Given the description of an element on the screen output the (x, y) to click on. 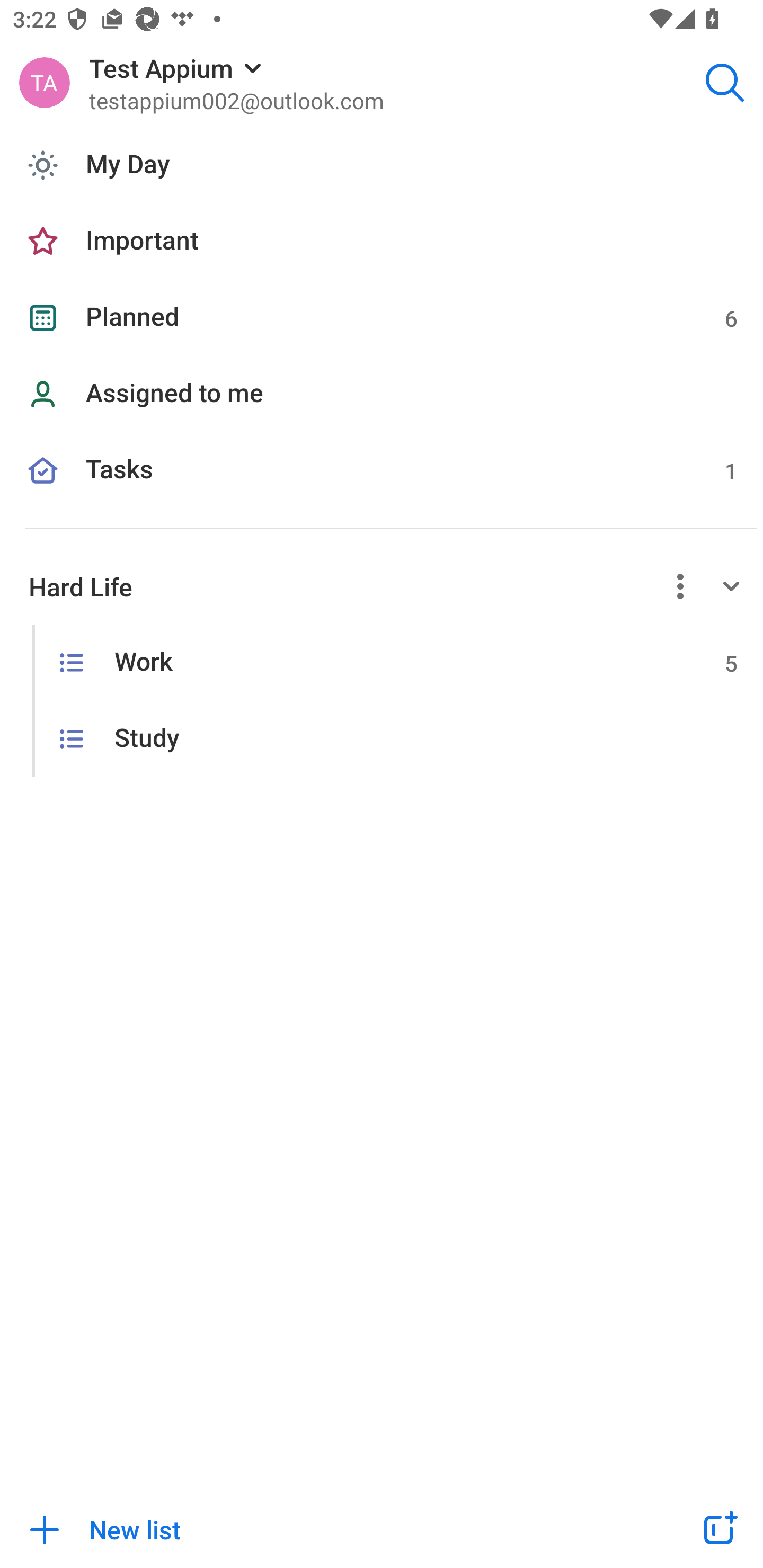
Study (381, 738)
